Given the description of an element on the screen output the (x, y) to click on. 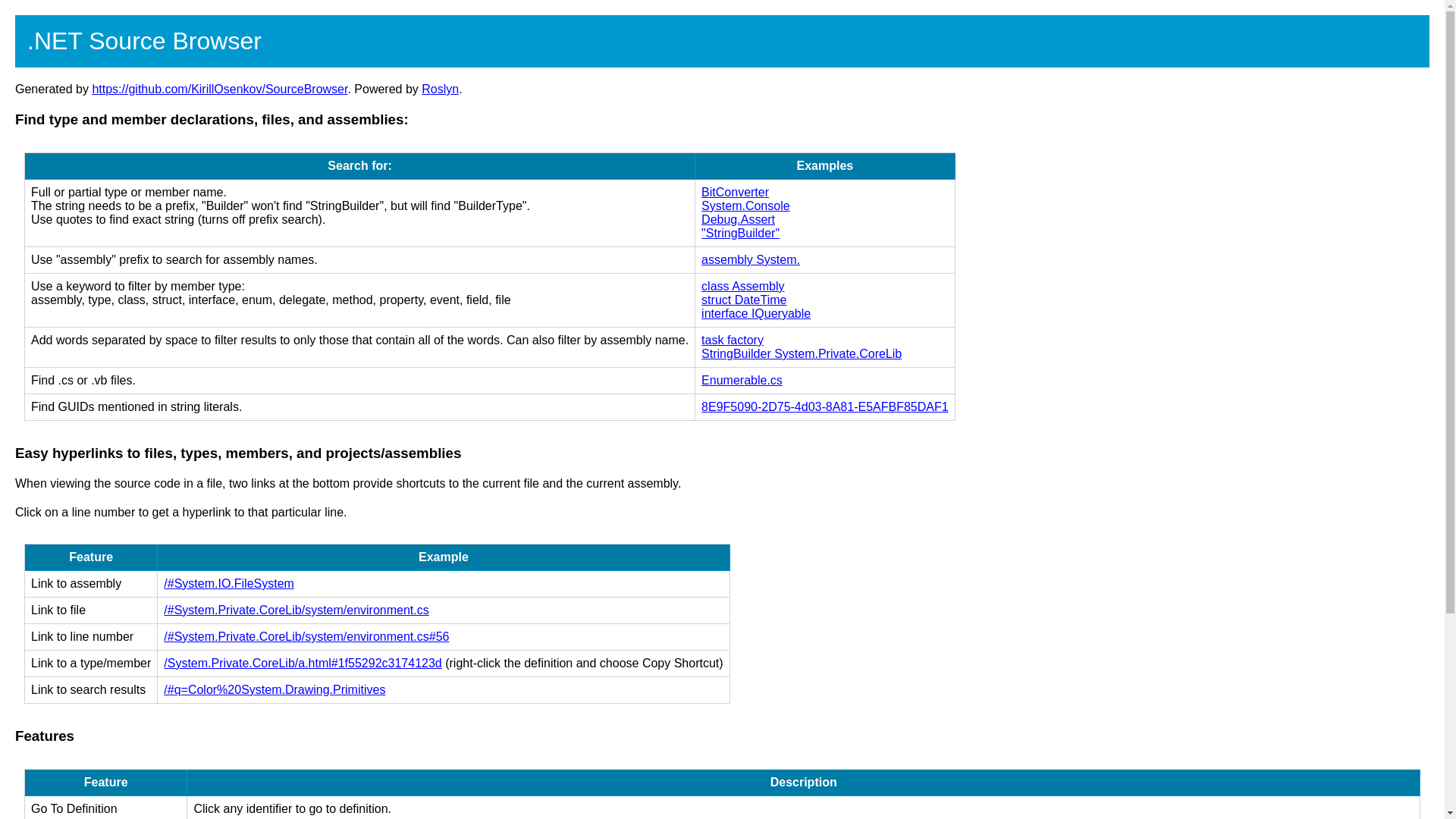
class Assembly (742, 286)
Debug.Assert (737, 219)
task factory (731, 339)
"StringBuilder" (739, 232)
assembly System. (750, 259)
Enumerable.cs (742, 379)
struct DateTime (743, 299)
8E9F5090-2D75-4d03-8A81-E5AFBF85DAF1 (825, 406)
StringBuilder System.Private.CoreLib (801, 353)
System.Console (745, 205)
BitConverter (734, 192)
interface IQueryable (755, 313)
Roslyn (440, 88)
